Given the description of an element on the screen output the (x, y) to click on. 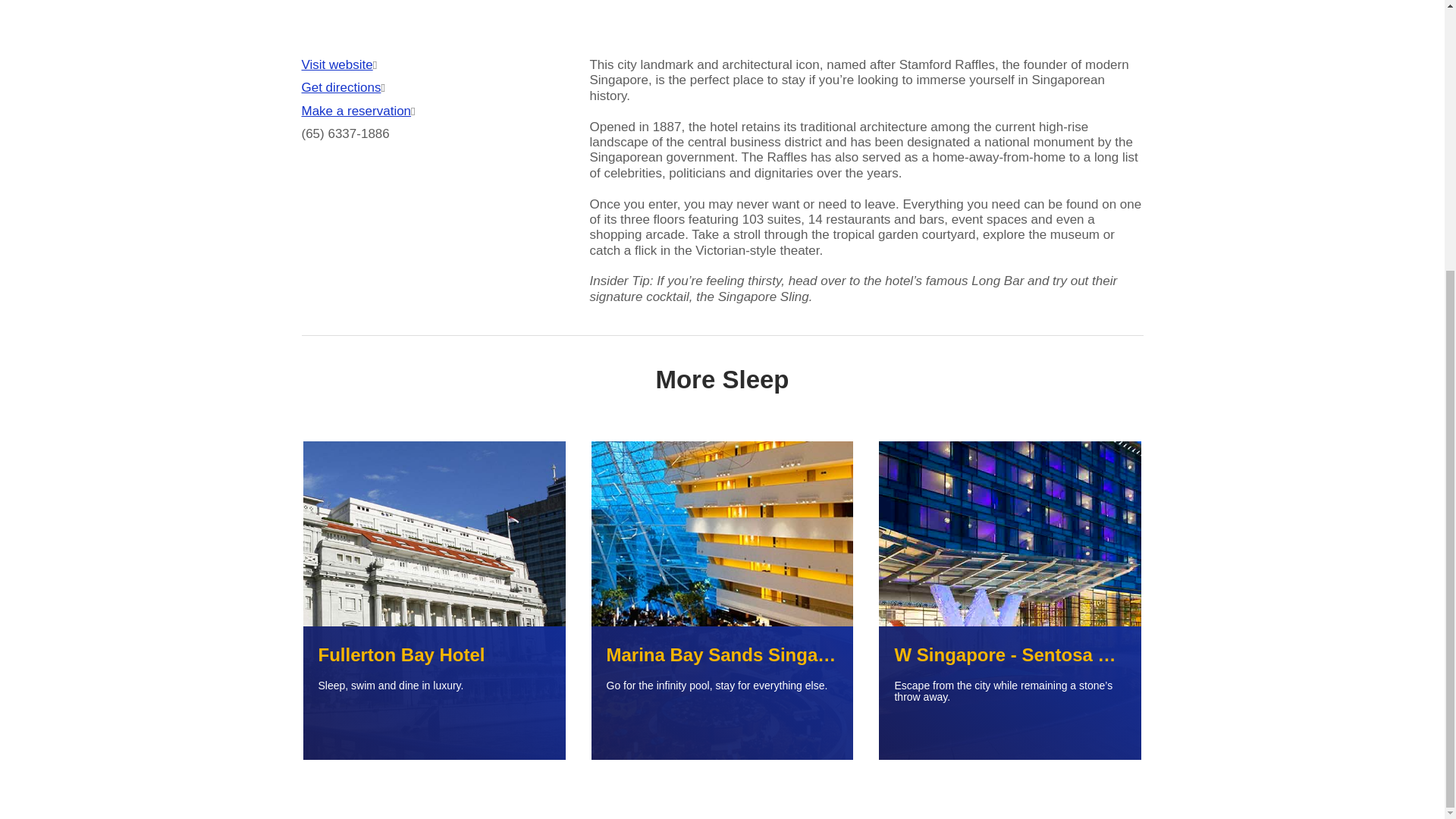
Visit website (336, 64)
Make a reservation (356, 111)
Get directions (341, 87)
